Given the description of an element on the screen output the (x, y) to click on. 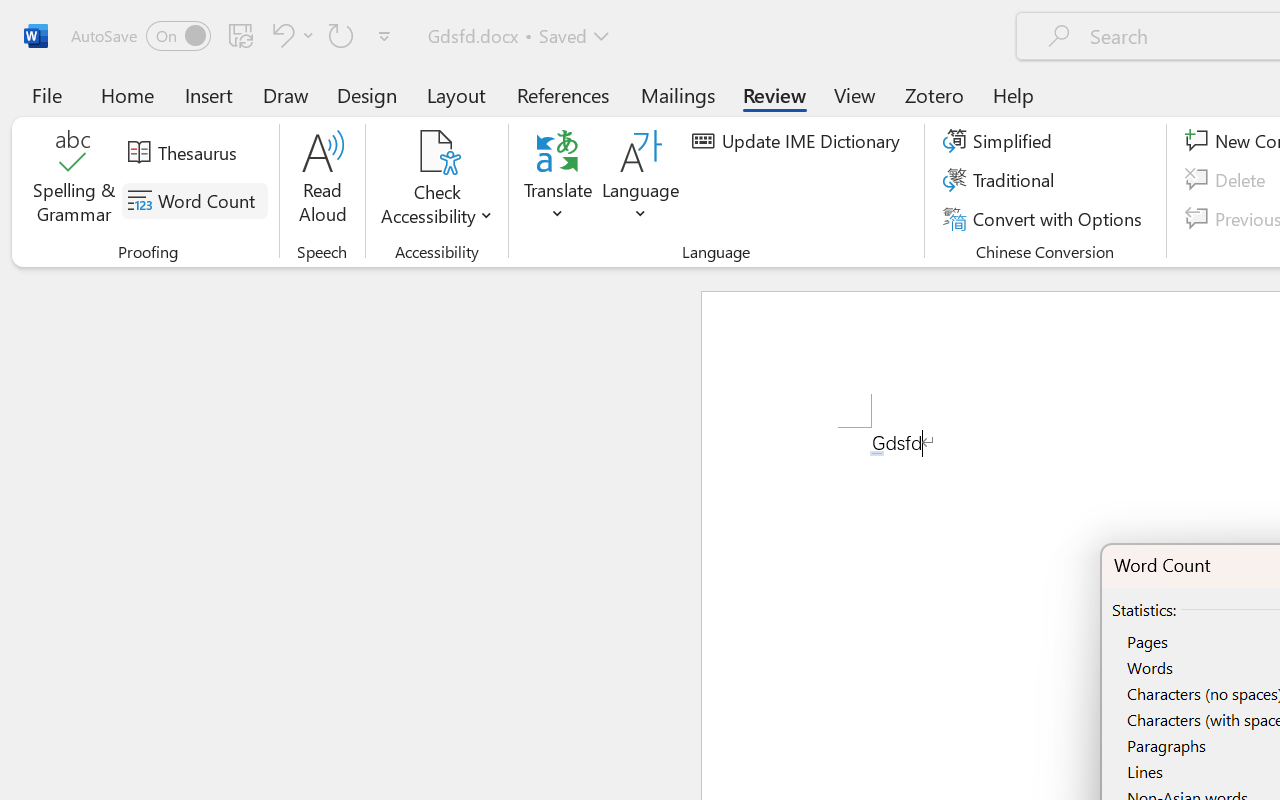
Word Count (194, 201)
Undo AutoCorrect (290, 35)
Simplified (1000, 141)
Convert with Options... (1045, 218)
Update IME Dictionary... (799, 141)
Thesaurus... (185, 153)
Action: Undo Auto Actions (877, 453)
